Given the description of an element on the screen output the (x, y) to click on. 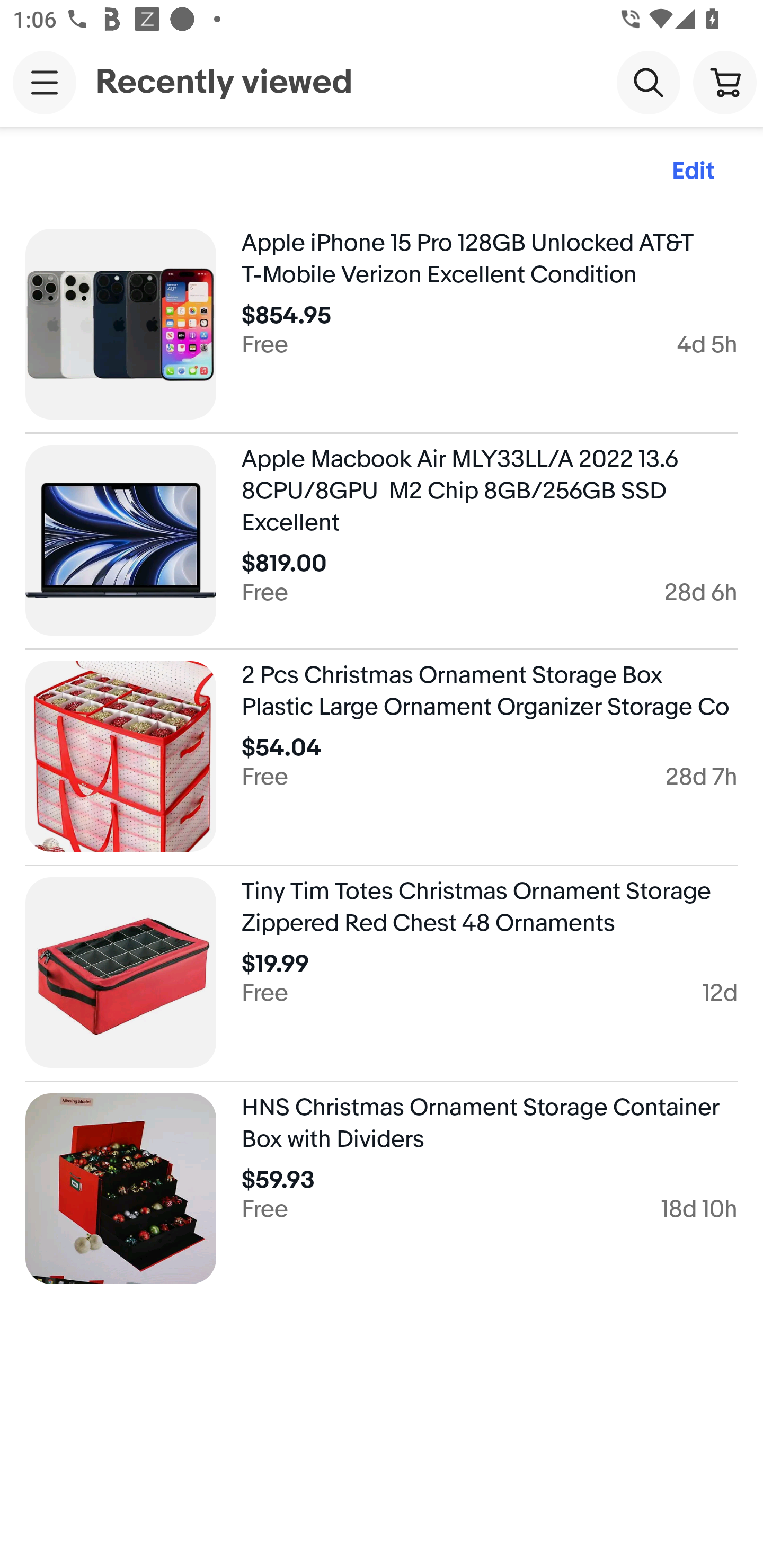
Main navigation, open (44, 82)
Search (648, 81)
Cart button shopping cart (724, 81)
Edit (693, 171)
